Given the description of an element on the screen output the (x, y) to click on. 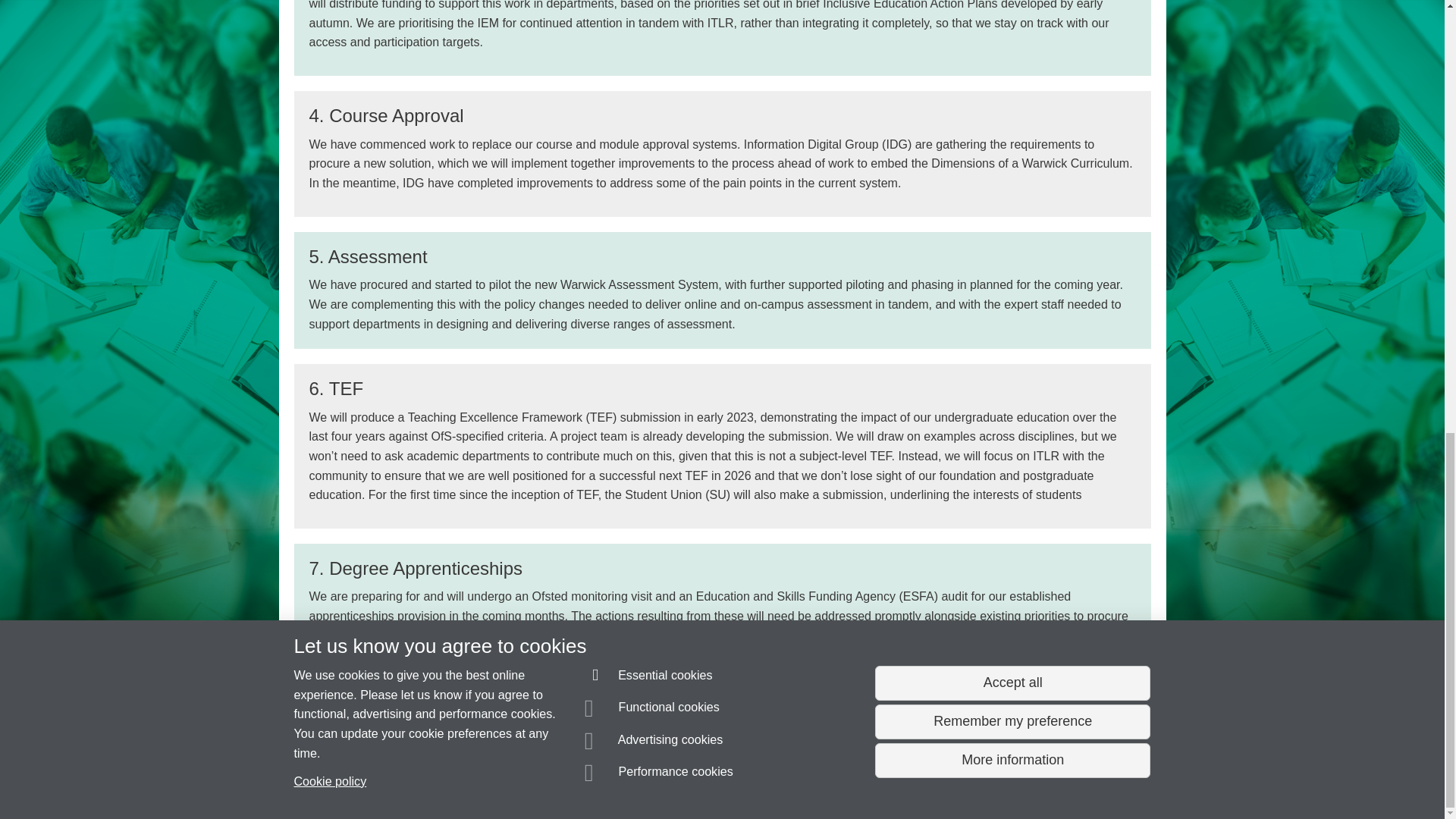
Send an email to Sharon Smith (379, 751)
Copyright Statement (514, 780)
Terms of use (708, 780)
Information about cookies (467, 780)
Privacy notice (673, 780)
More information about SiteBuilder (365, 780)
